Given the description of an element on the screen output the (x, y) to click on. 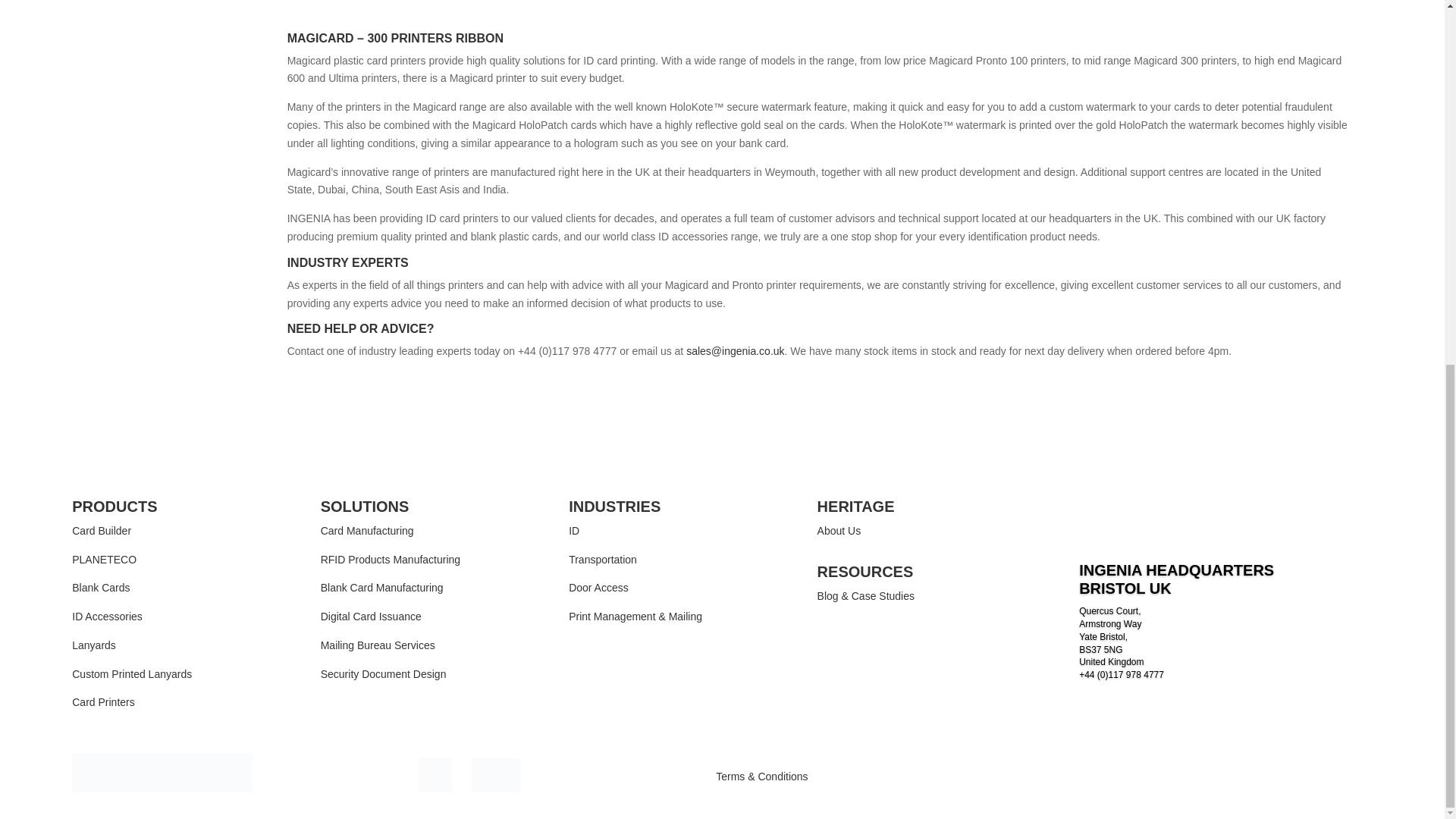
utubered (495, 775)
LinkedIn-Logo-300x300 (435, 775)
